Given the description of an element on the screen output the (x, y) to click on. 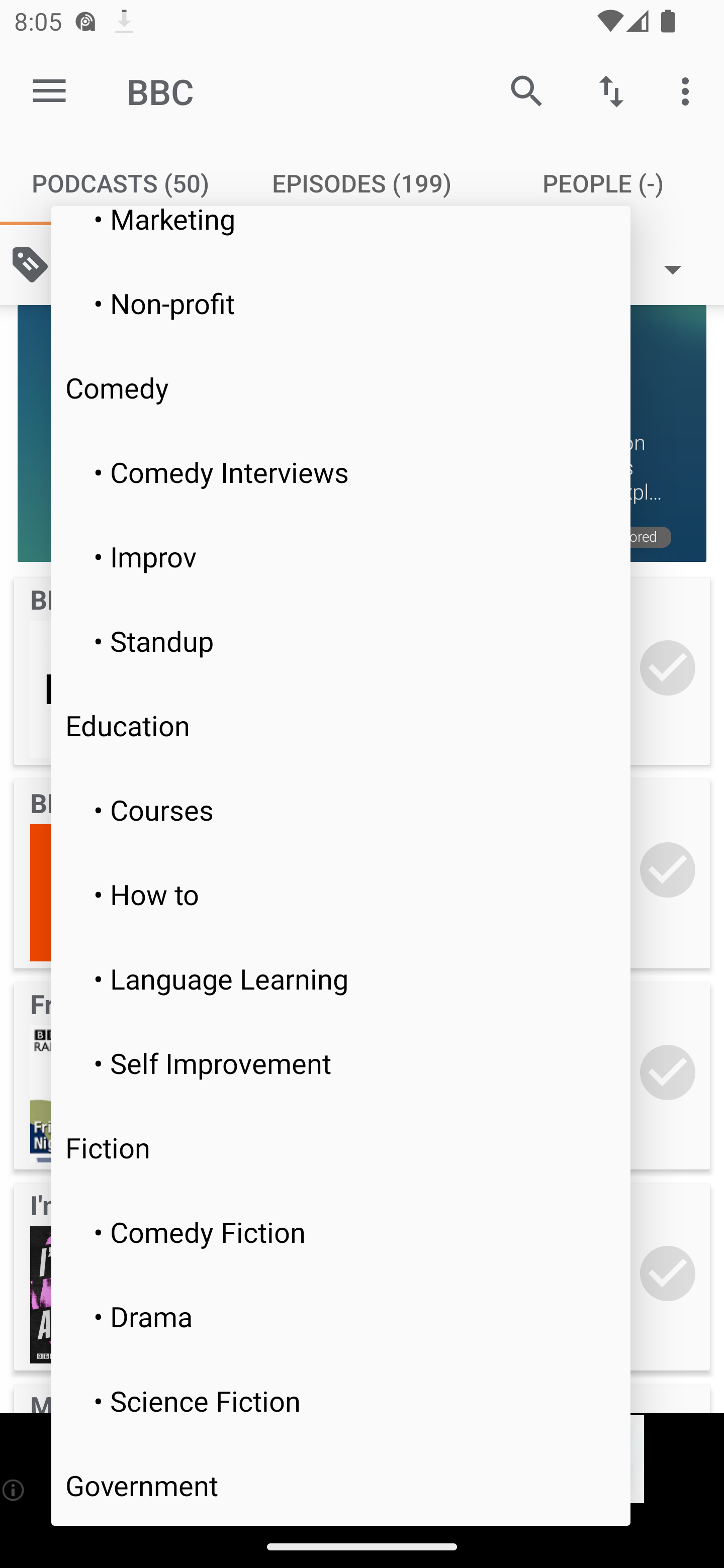
    • Marketing (340, 232)
    • Non-profit (340, 302)
Comedy (340, 386)
    • Comedy Interviews (340, 471)
    • Improv (340, 556)
    • Standup (340, 640)
Education (340, 724)
    • Courses (340, 808)
    • How to (340, 893)
    • Language Learning (340, 978)
    • Self Improvement (340, 1062)
Fiction (340, 1147)
    • Comedy Fiction (340, 1231)
    • Drama (340, 1315)
    • Science Fiction (340, 1399)
Government (340, 1483)
